Given the description of an element on the screen output the (x, y) to click on. 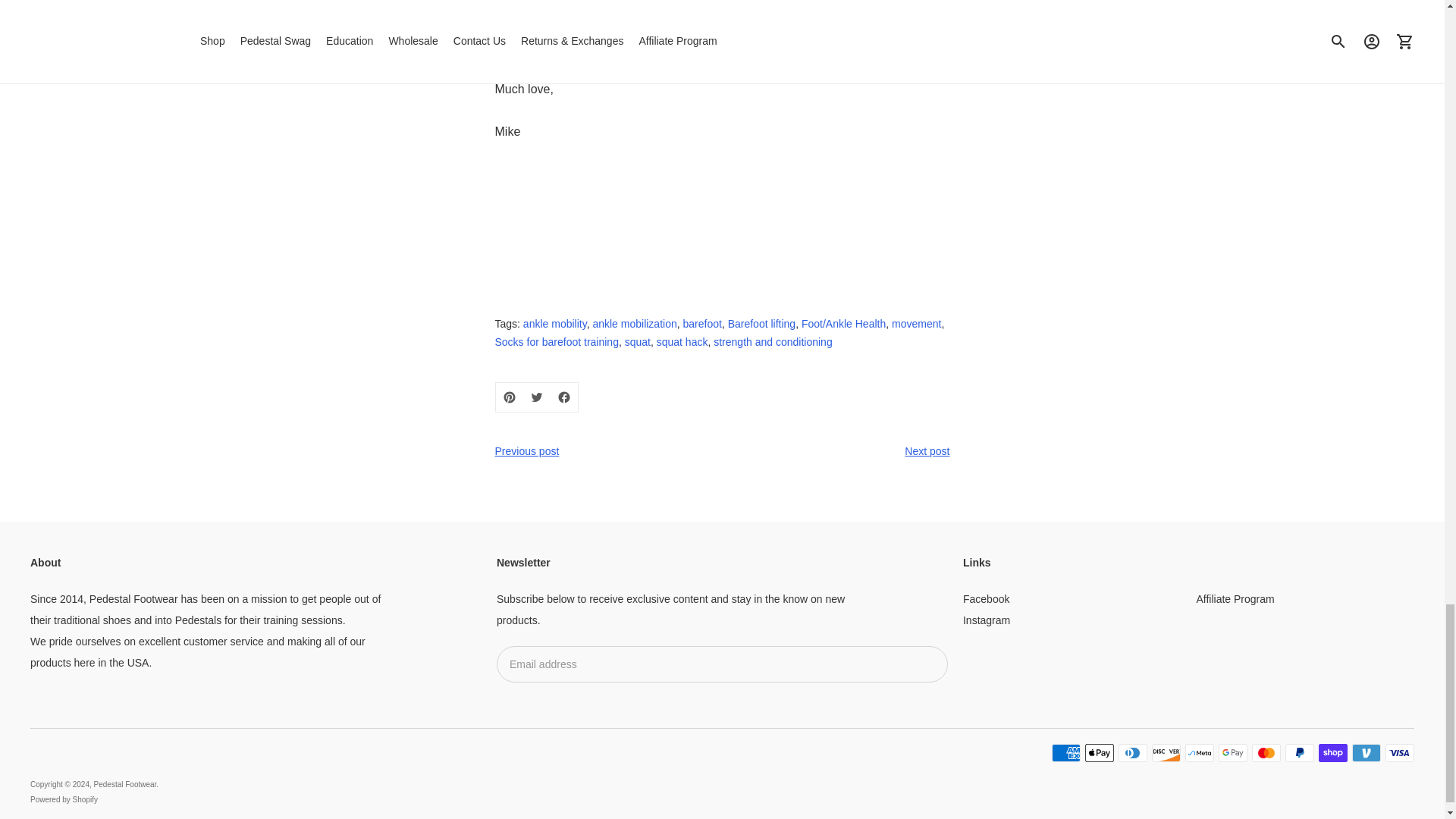
Show articles tagged strength and conditioning (772, 341)
Show articles tagged Barefoot lifting (762, 323)
Share to Pinterest (509, 397)
Share to twitter (536, 397)
Show articles tagged ankle mobility (554, 323)
Show articles tagged ankle mobilization (634, 323)
Show articles tagged squat (637, 341)
Show articles tagged movement (915, 323)
Show articles tagged Socks for barefoot training (556, 341)
Show articles tagged barefoot (701, 323)
